Given the description of an element on the screen output the (x, y) to click on. 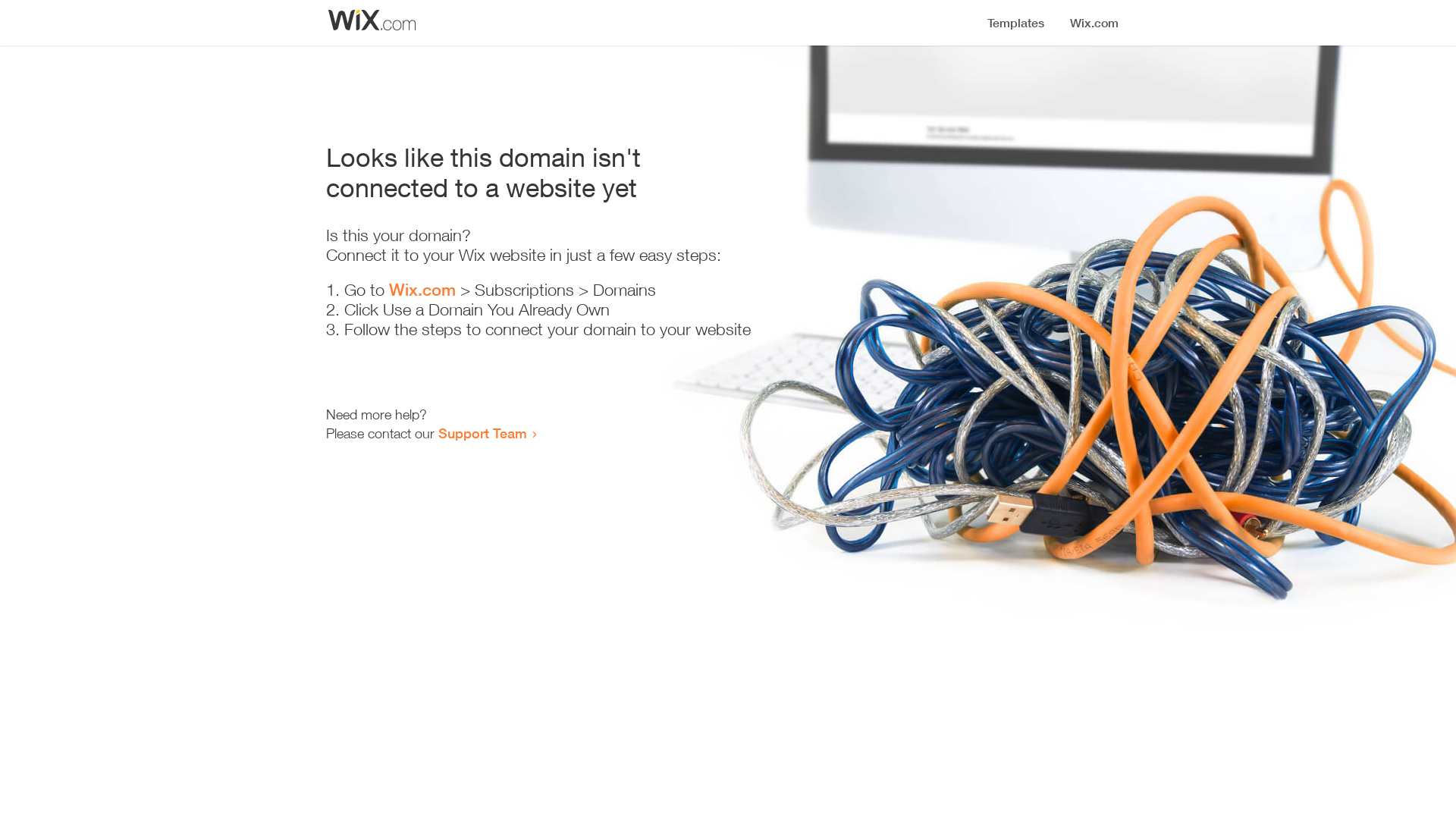
Wix.com Element type: text (422, 289)
Support Team Element type: text (482, 432)
